Given the description of an element on the screen output the (x, y) to click on. 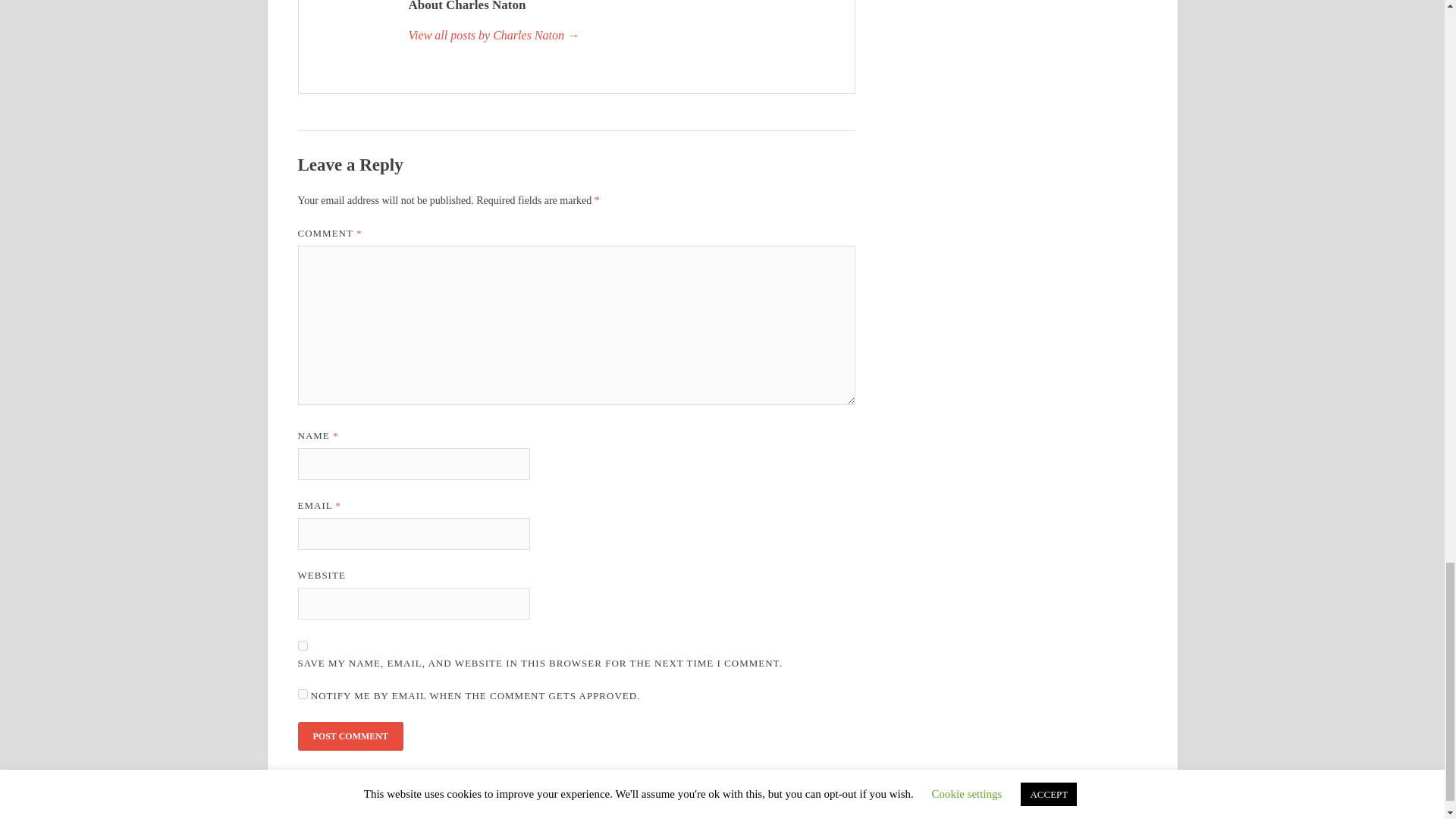
Charles Naton (622, 35)
1 (302, 694)
yes (302, 645)
Post Comment (350, 736)
